Given the description of an element on the screen output the (x, y) to click on. 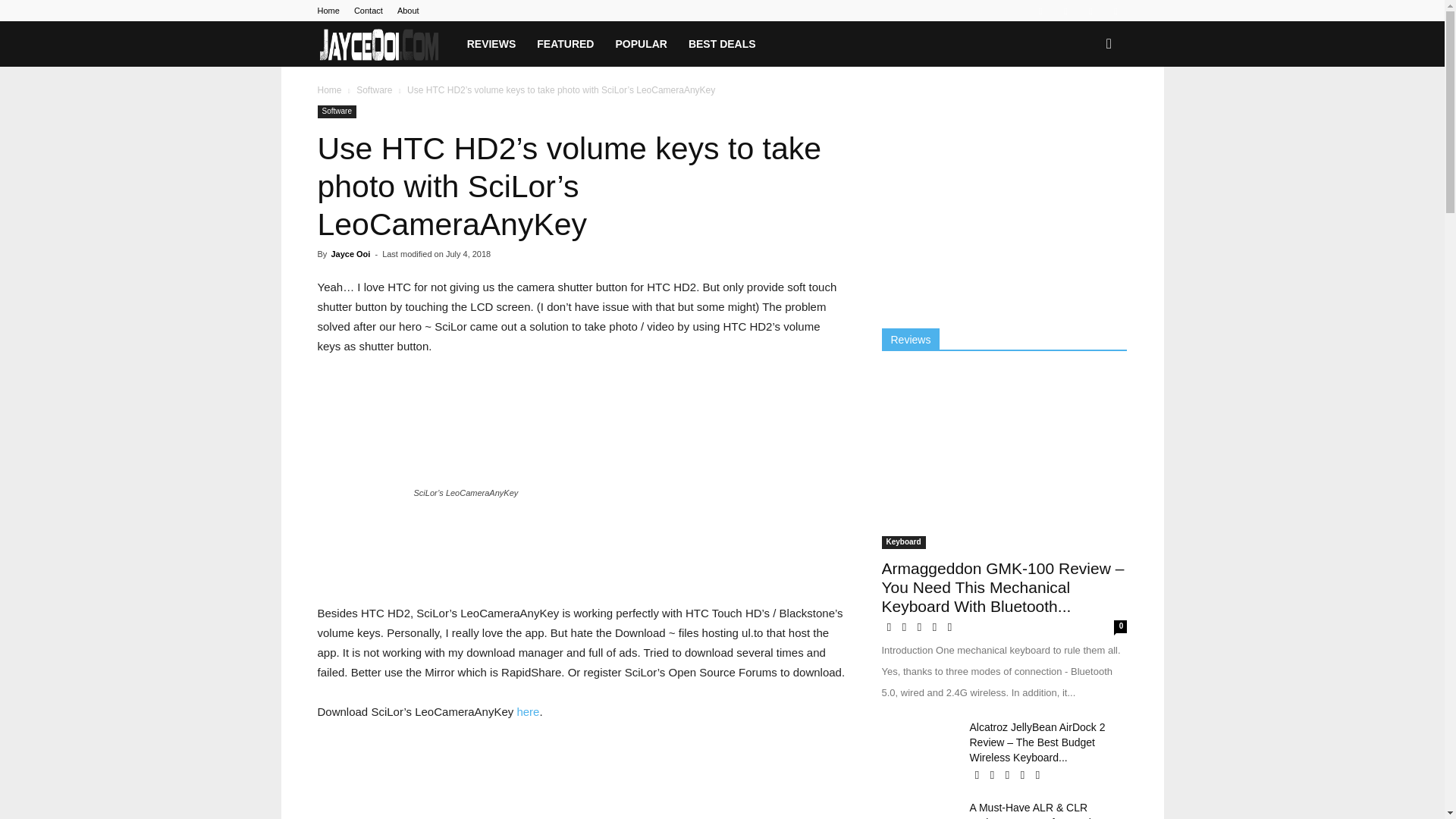
JayceOoi.com (379, 44)
Pinterest (1065, 10)
Youtube (1114, 10)
Facebook (1040, 10)
Twitter (1090, 10)
